Given the description of an element on the screen output the (x, y) to click on. 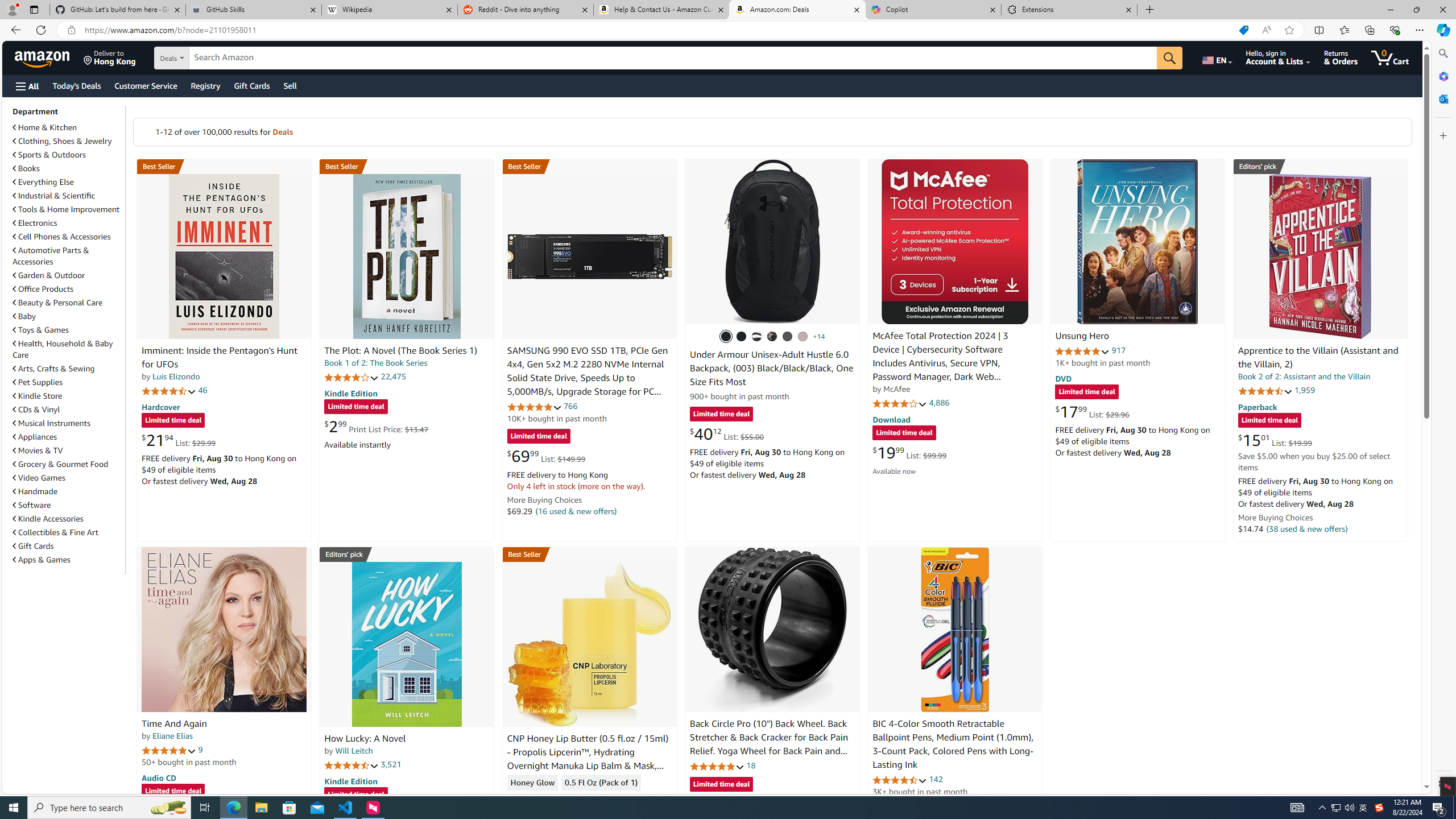
Home & Kitchen (67, 127)
Search Amazon (673, 57)
Grocery & Gourmet Food (67, 464)
Video Games (67, 477)
Download (891, 419)
Close Outlook pane (1442, 98)
(004) Black / Black / Metallic Gold (772, 336)
Copilot (933, 9)
Beauty & Personal Care (67, 301)
$21.94 List: $29.99 (178, 439)
Time And Again (224, 628)
